Given the description of an element on the screen output the (x, y) to click on. 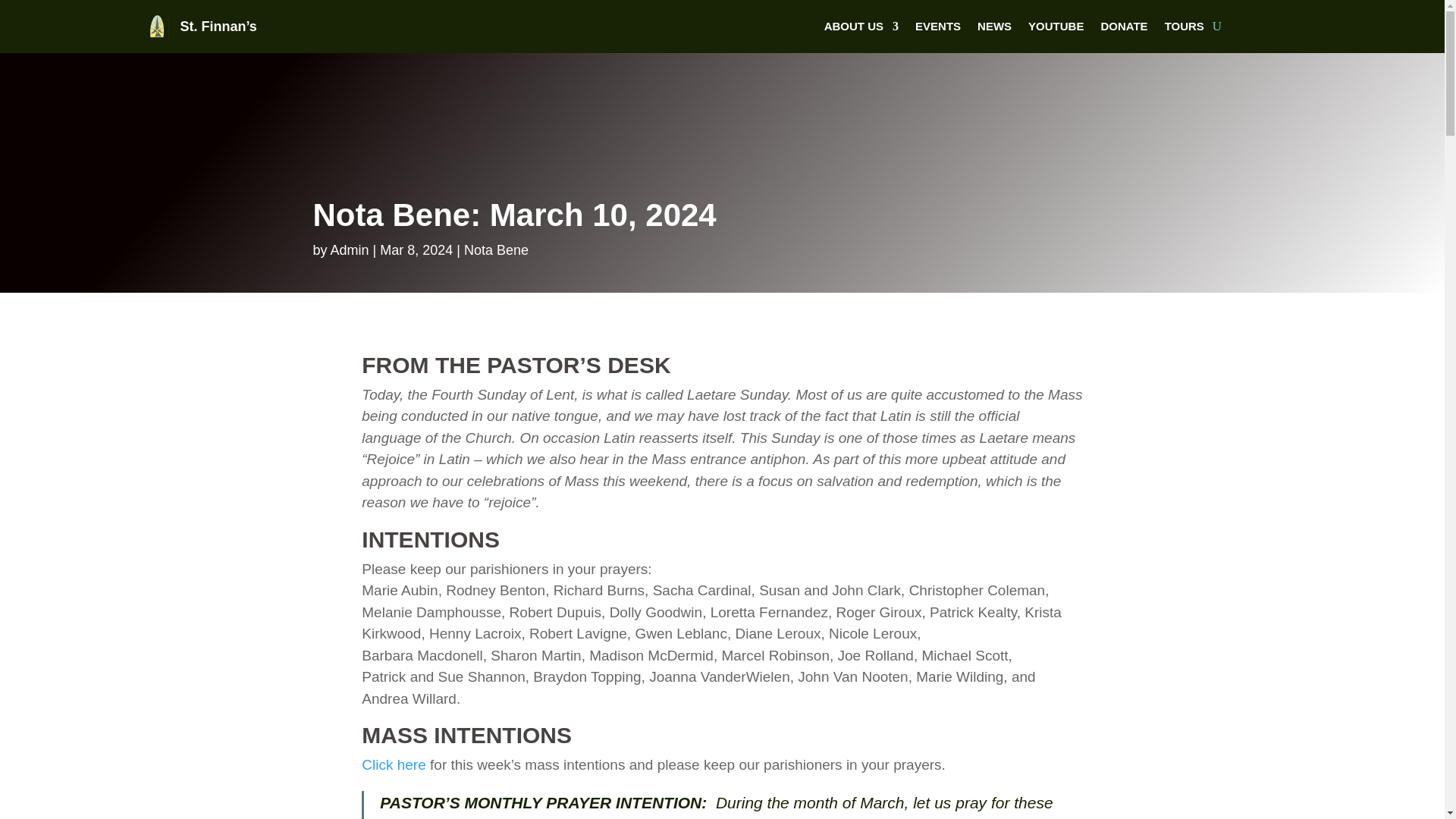
EVENTS (937, 29)
ABOUT US (861, 29)
Admin (349, 249)
Click here (393, 764)
Nota Bene (496, 249)
Posts by Admin (349, 249)
YOUTUBE (1055, 29)
NEWS (993, 29)
DONATE (1123, 29)
TOURS (1184, 29)
